Given the description of an element on the screen output the (x, y) to click on. 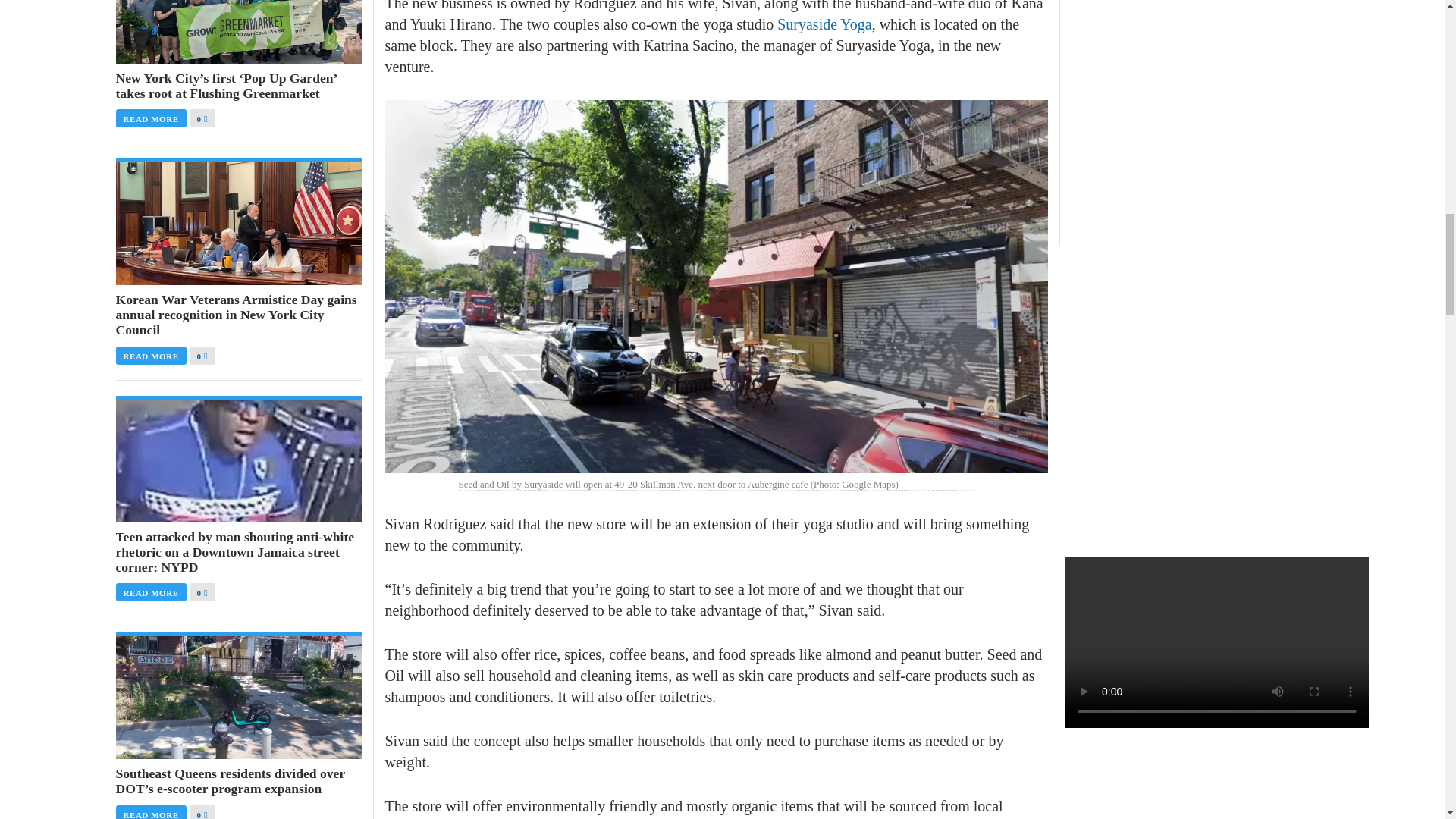
Suryaside Yoga (823, 23)
